Given the description of an element on the screen output the (x, y) to click on. 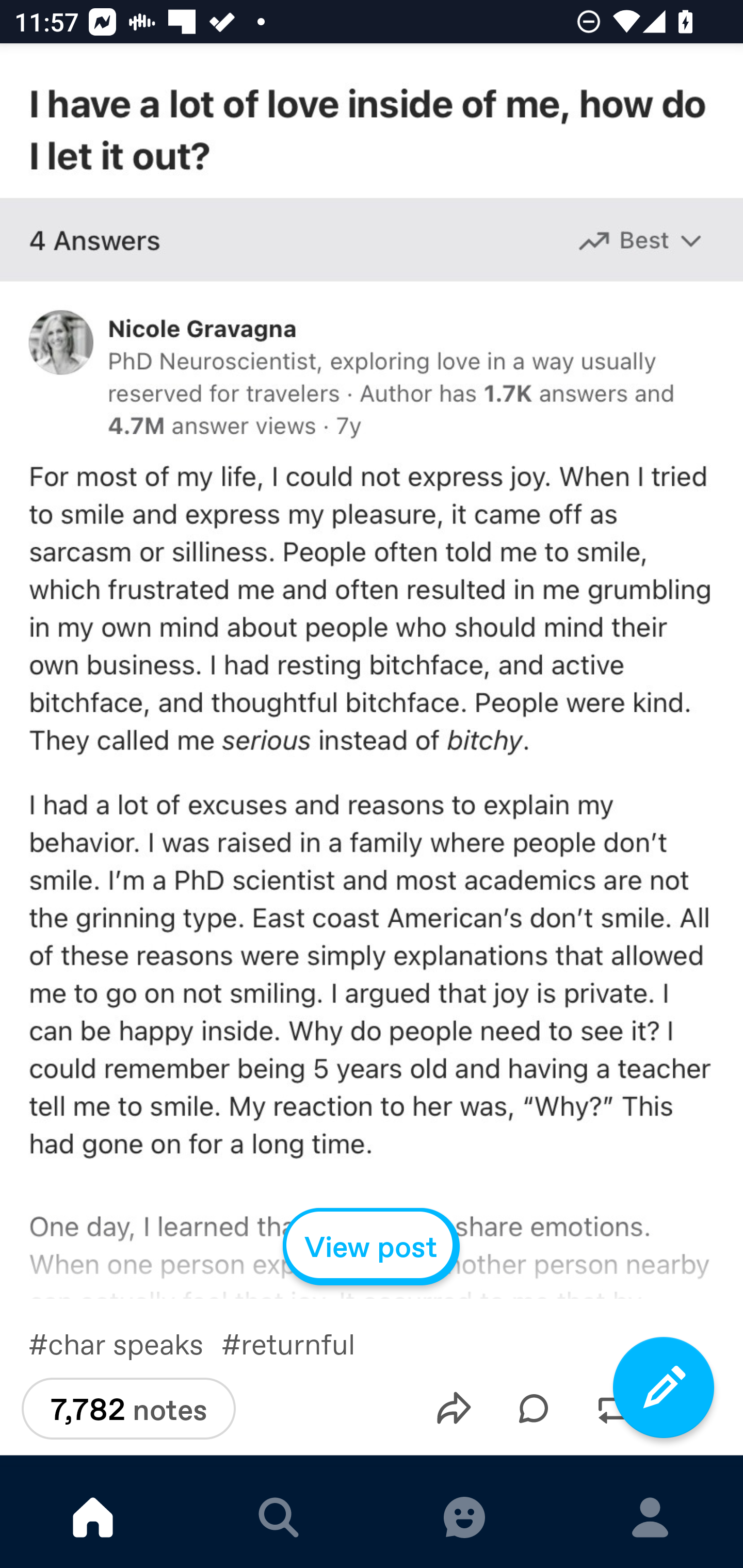
View post (371, 1246)
#char speaks (124, 1342)
#returnful (302, 1342)
Compose a new post (663, 1387)
Share post to message (454, 1408)
Reply (533, 1408)
7,782 notes (128, 1408)
DASHBOARD (92, 1517)
EXPLORE (278, 1517)
MESSAGES (464, 1517)
ACCOUNT (650, 1517)
